Given the description of an element on the screen output the (x, y) to click on. 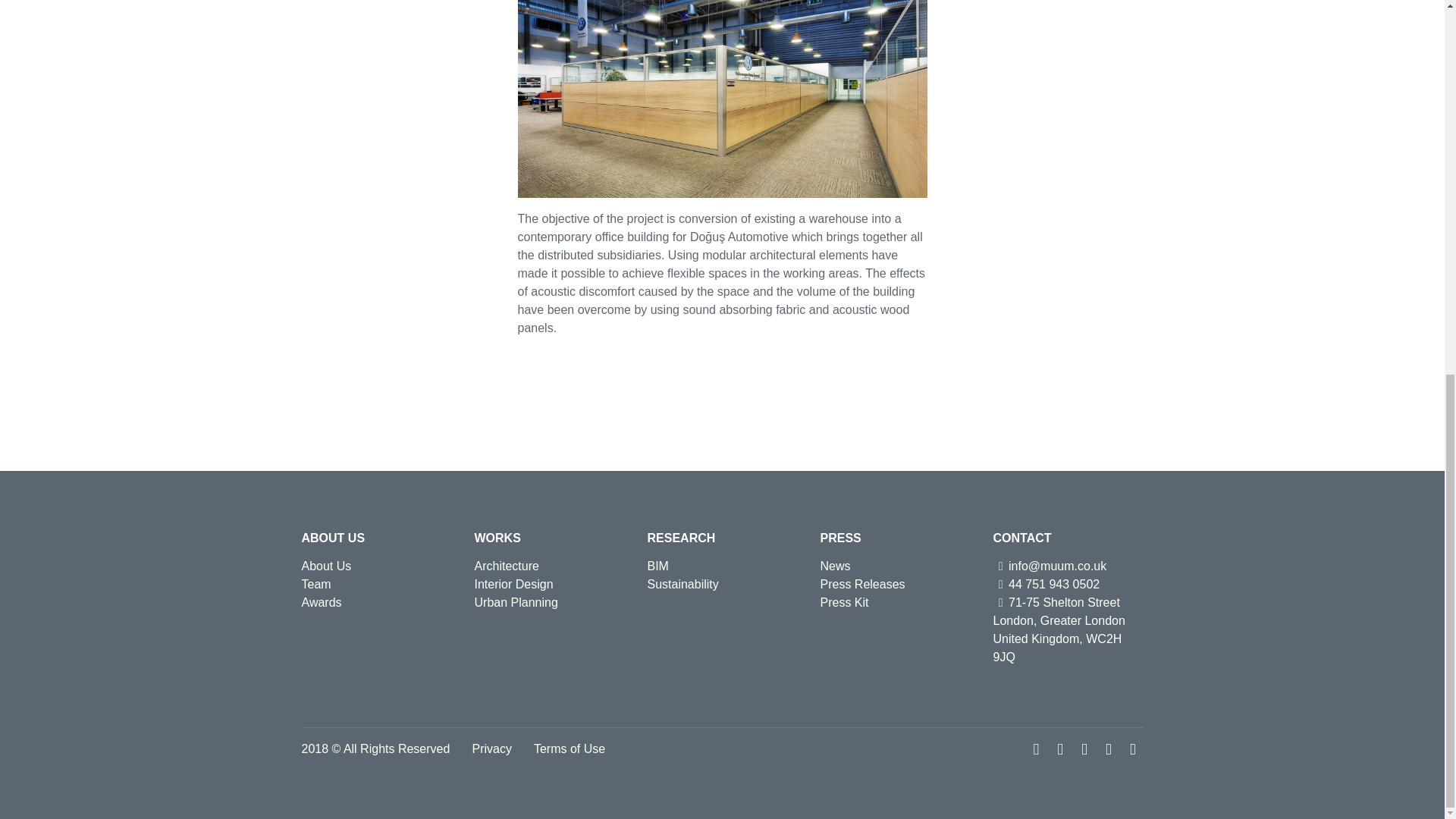
Team (316, 584)
Interior Design (513, 584)
About Us (326, 565)
Urban Planning (515, 602)
Awards (321, 602)
Architecture (506, 565)
